Given the description of an element on the screen output the (x, y) to click on. 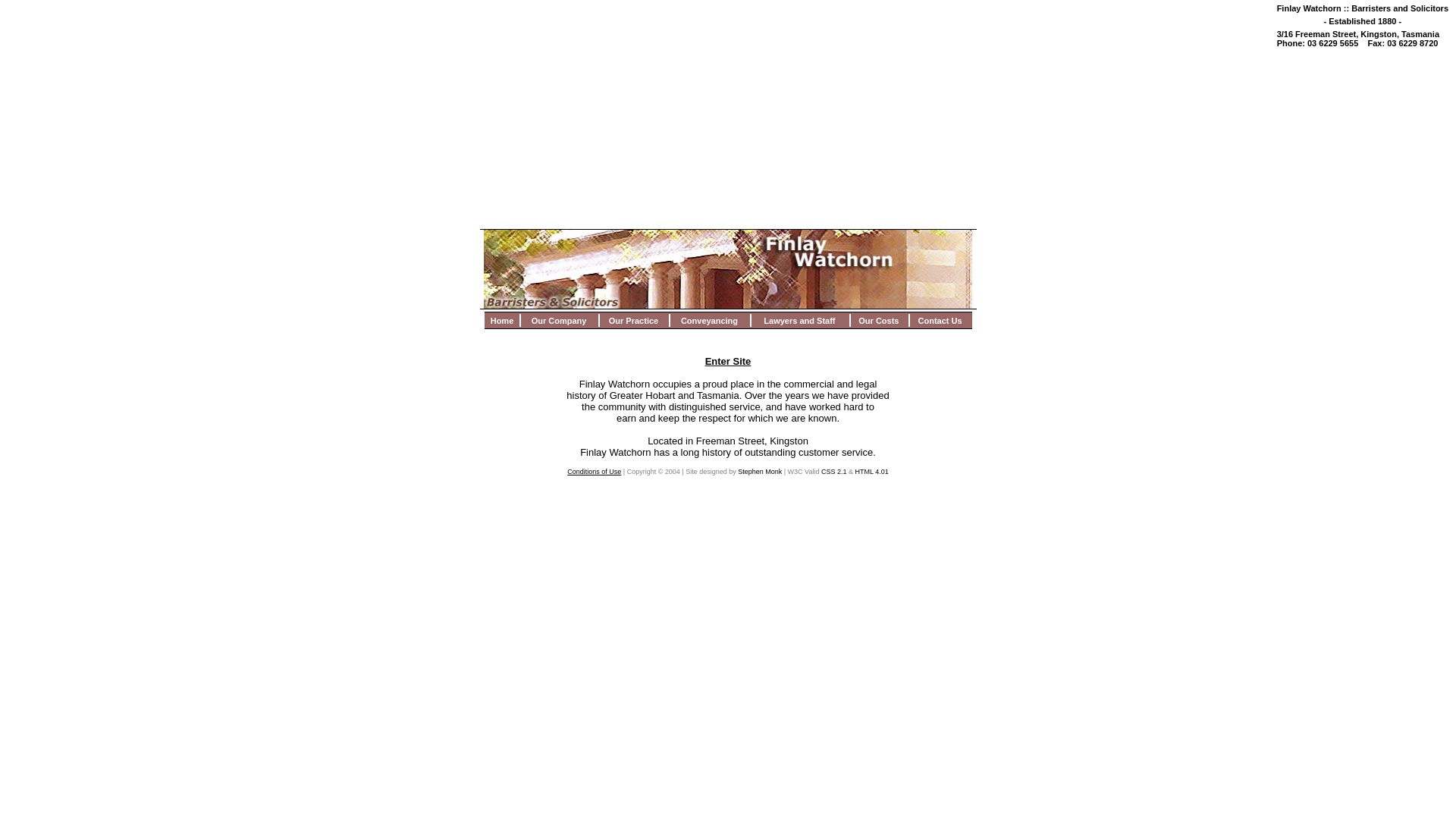
Home Element type: text (502, 320)
Stephen Monk Element type: text (759, 471)
Enter Main Site Element type: hover (727, 305)
Our Practice Element type: text (633, 320)
Lawyers and Staff Element type: text (798, 320)
Conditions of Use Element type: text (594, 471)
HTML 4.01 Element type: text (871, 471)
Enter Site Element type: text (728, 361)
Our Company Element type: text (558, 320)
Conveyancing Element type: text (708, 320)
CSS 2.1 Element type: text (834, 471)
Our Costs Element type: text (878, 320)
Contact Us Element type: text (940, 320)
